Given the description of an element on the screen output the (x, y) to click on. 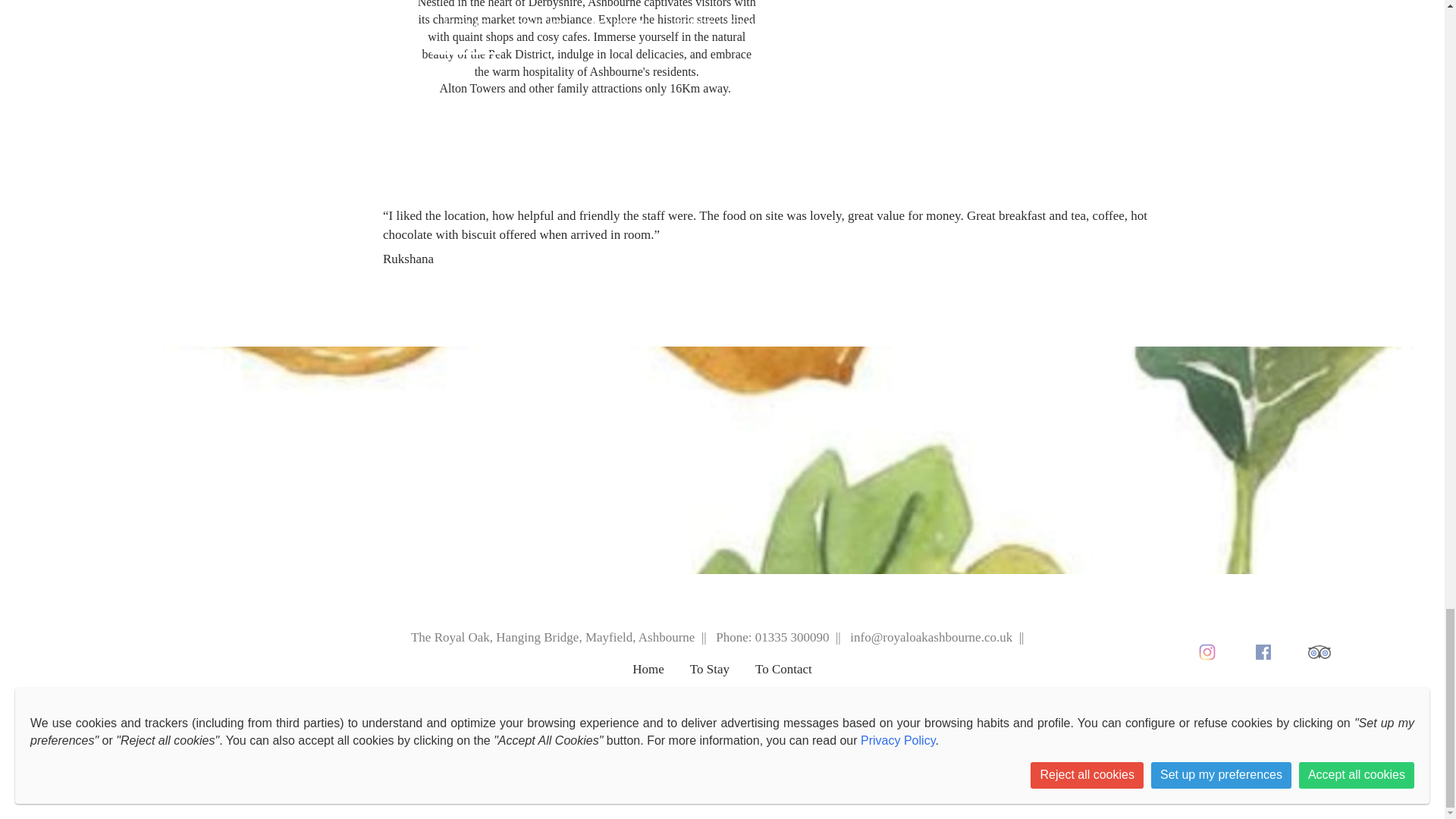
To Contact (783, 675)
Home (648, 675)
To Stay (709, 675)
Powered using Amenitiz (722, 712)
